Given the description of an element on the screen output the (x, y) to click on. 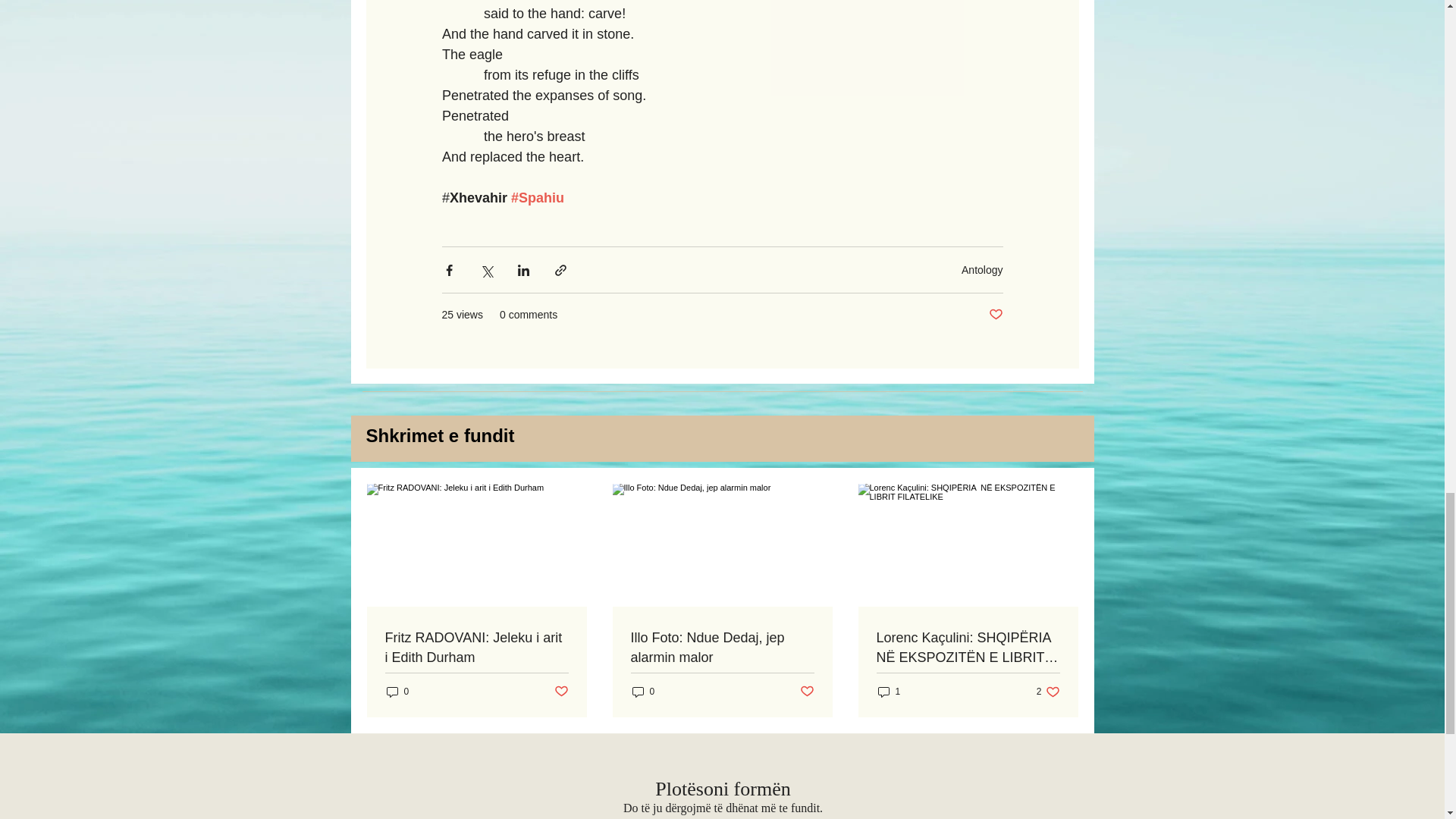
Post not marked as liked (560, 691)
Antology (981, 269)
Fritz RADOVANI: Jeleku i arit i Edith Durham (477, 647)
0 (397, 691)
Post not marked as liked (995, 314)
